Given the description of an element on the screen output the (x, y) to click on. 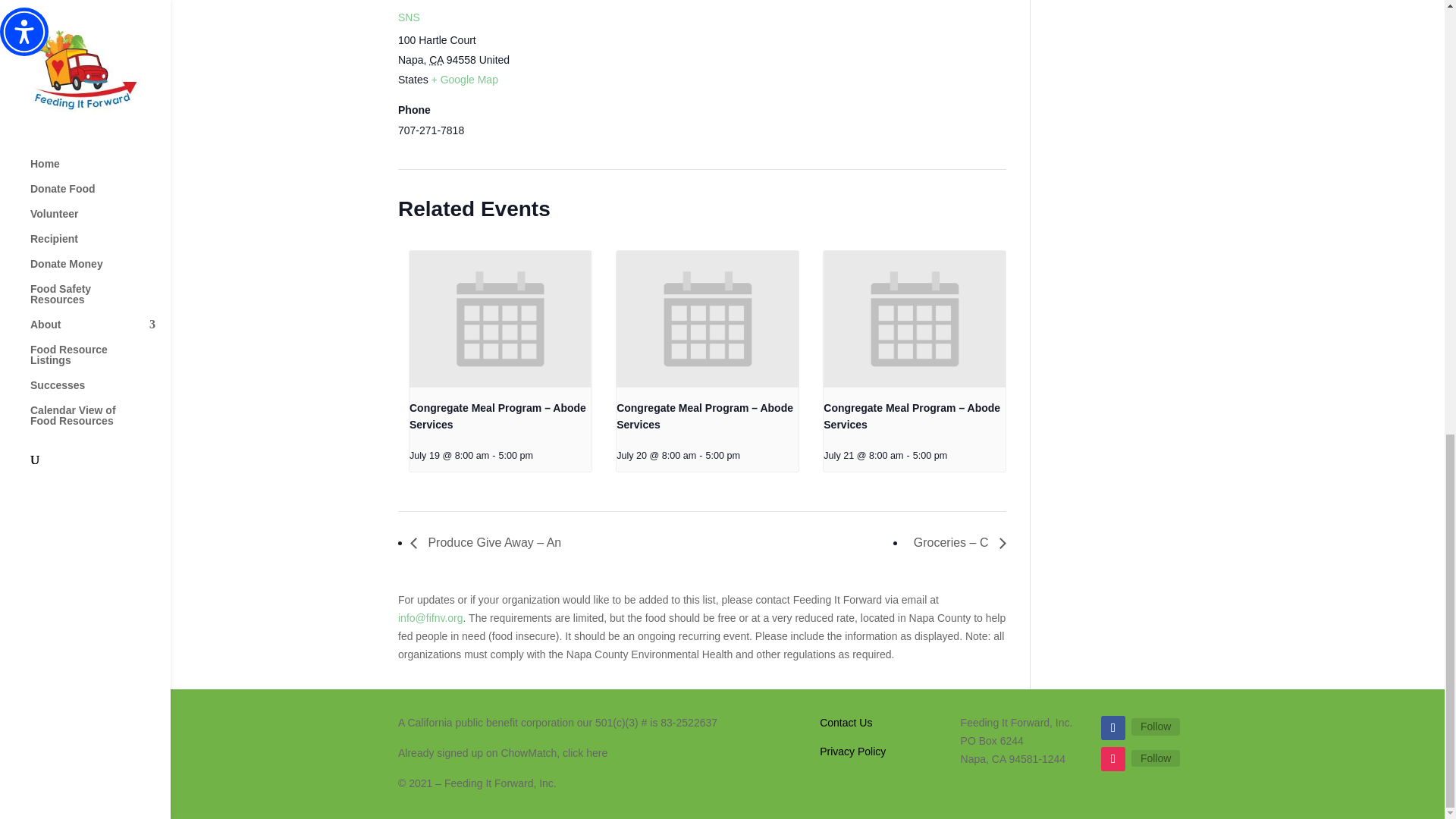
Contact Us (845, 722)
Google maps iframe displaying the address to SNS (623, 72)
Click to view a Google Map (463, 79)
Privacy Policy (852, 751)
California (436, 60)
